Given the description of an element on the screen output the (x, y) to click on. 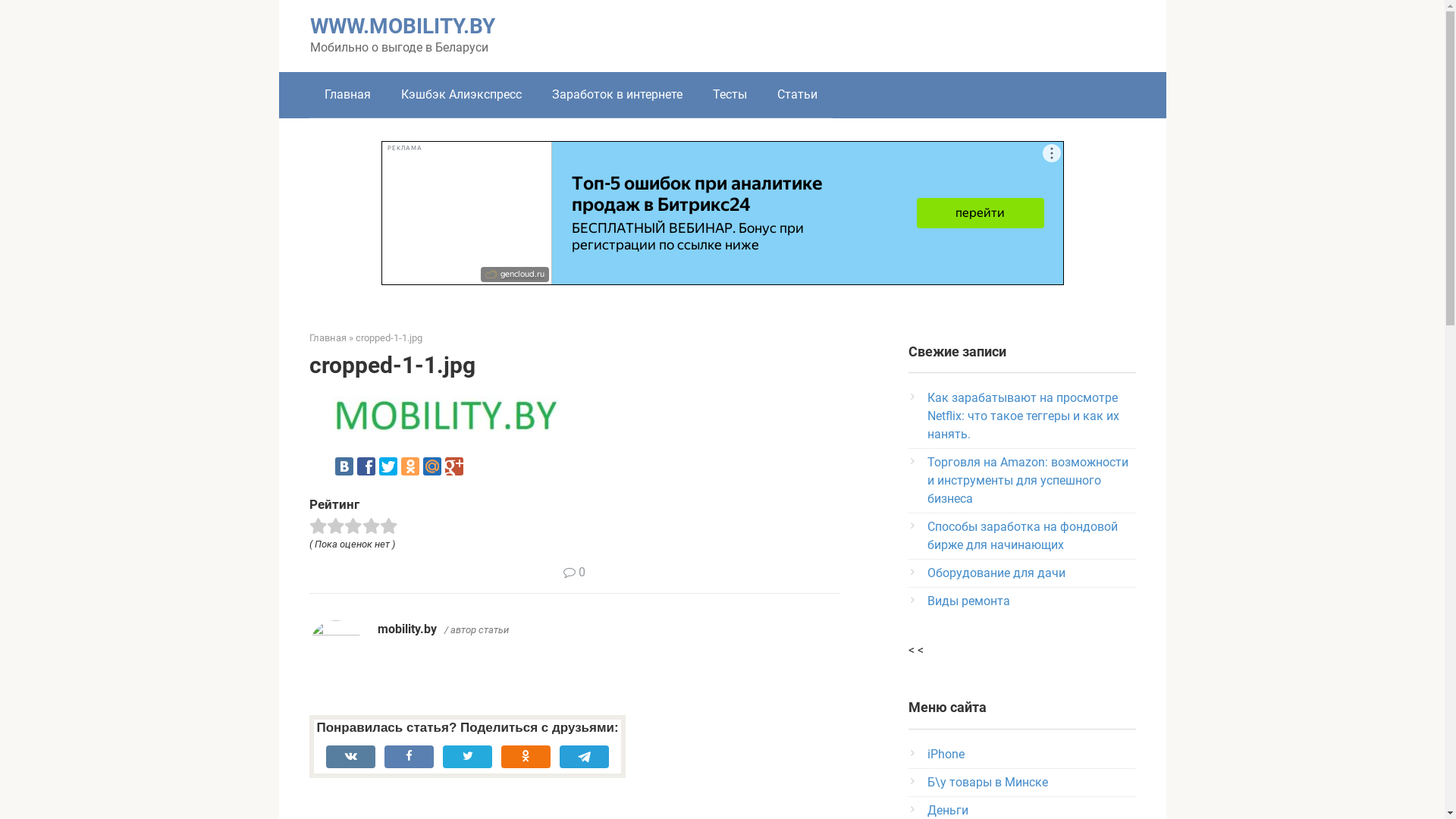
iPhone Element type: text (944, 753)
WWW.MOBILITY.BY Element type: text (401, 25)
Twitter Element type: hover (388, 466)
Google Plus Element type: hover (453, 466)
Facebook Element type: hover (365, 466)
